Given the description of an element on the screen output the (x, y) to click on. 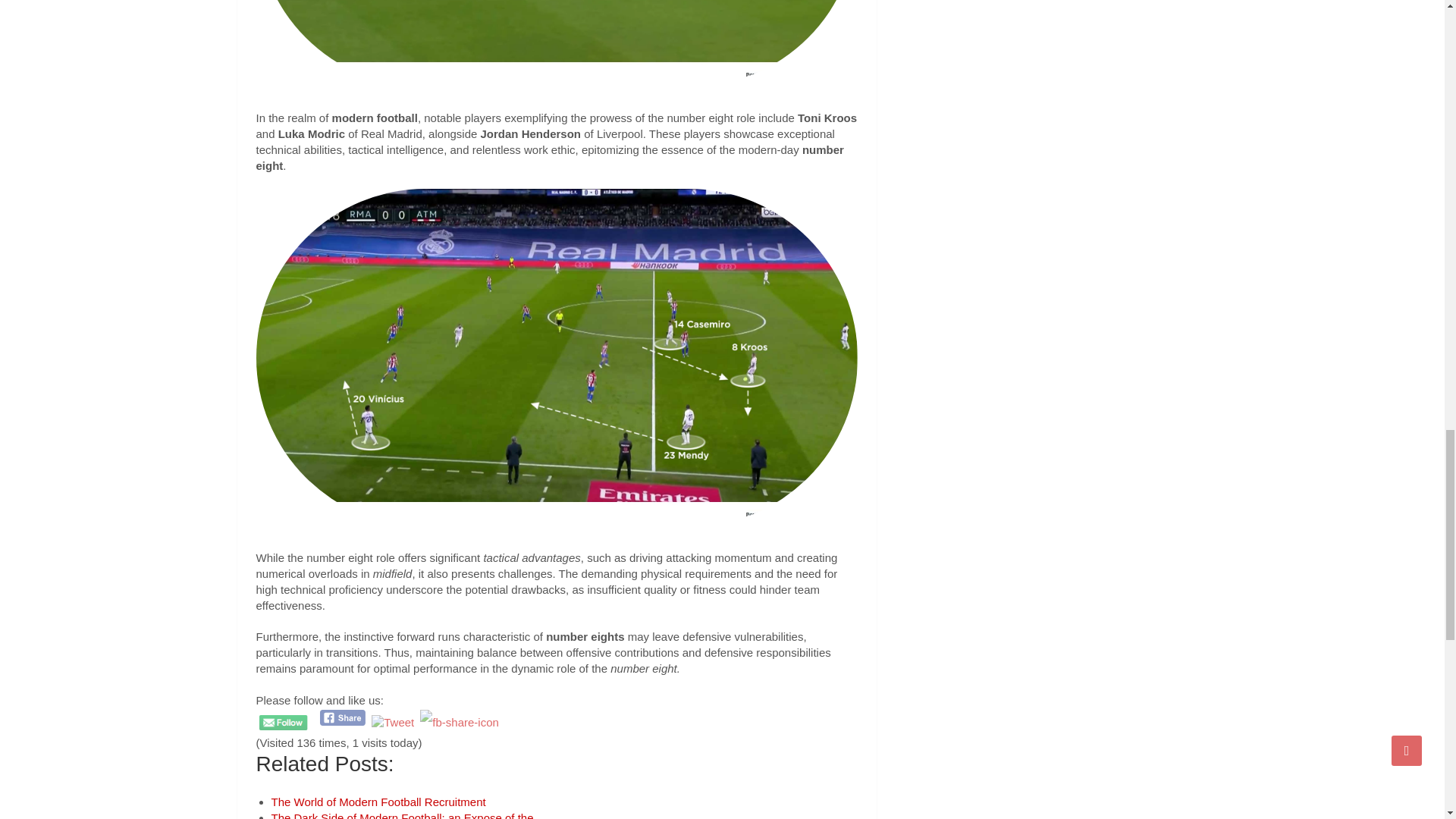
Tweet (392, 722)
The World of Modern Football Recruitment (378, 801)
Pin Share (459, 722)
Facebook Share (343, 717)
